Given the description of an element on the screen output the (x, y) to click on. 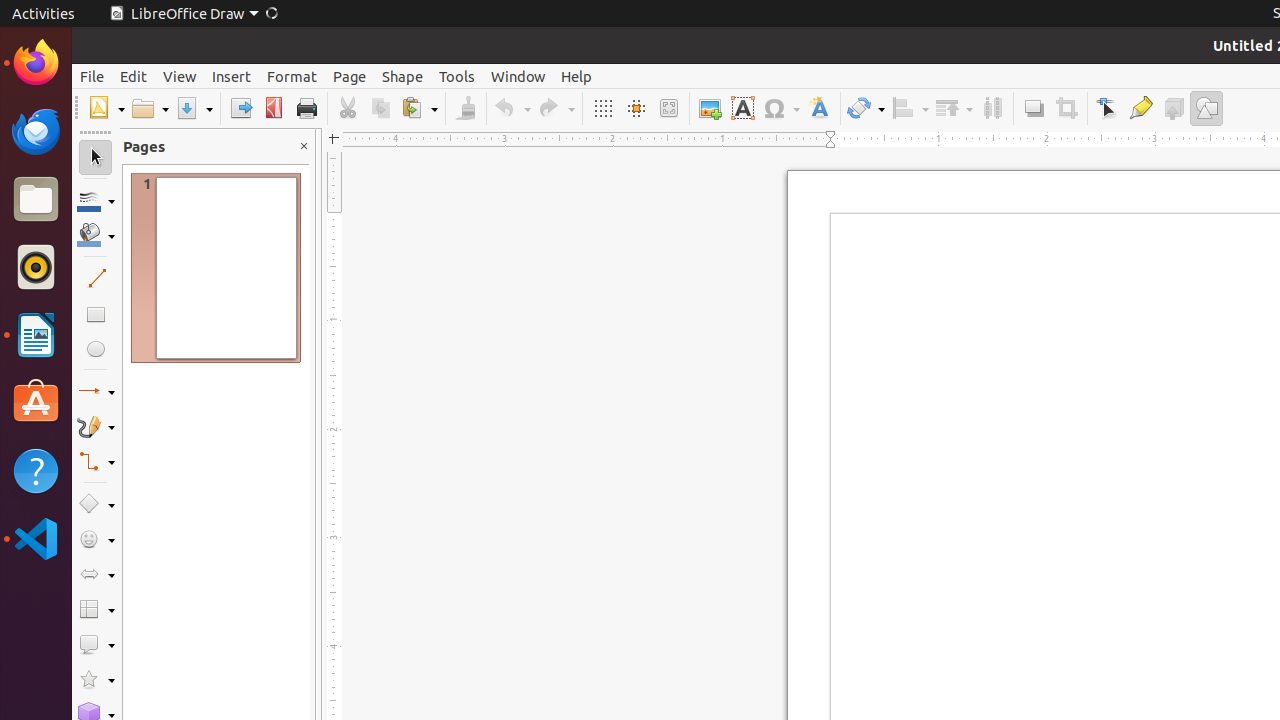
Image Element type: push-button (709, 108)
Toggle Extrusion Element type: push-button (1173, 108)
Flowchart Shapes Element type: push-button (96, 609)
Crop Element type: push-button (1066, 108)
